Given the description of an element on the screen output the (x, y) to click on. 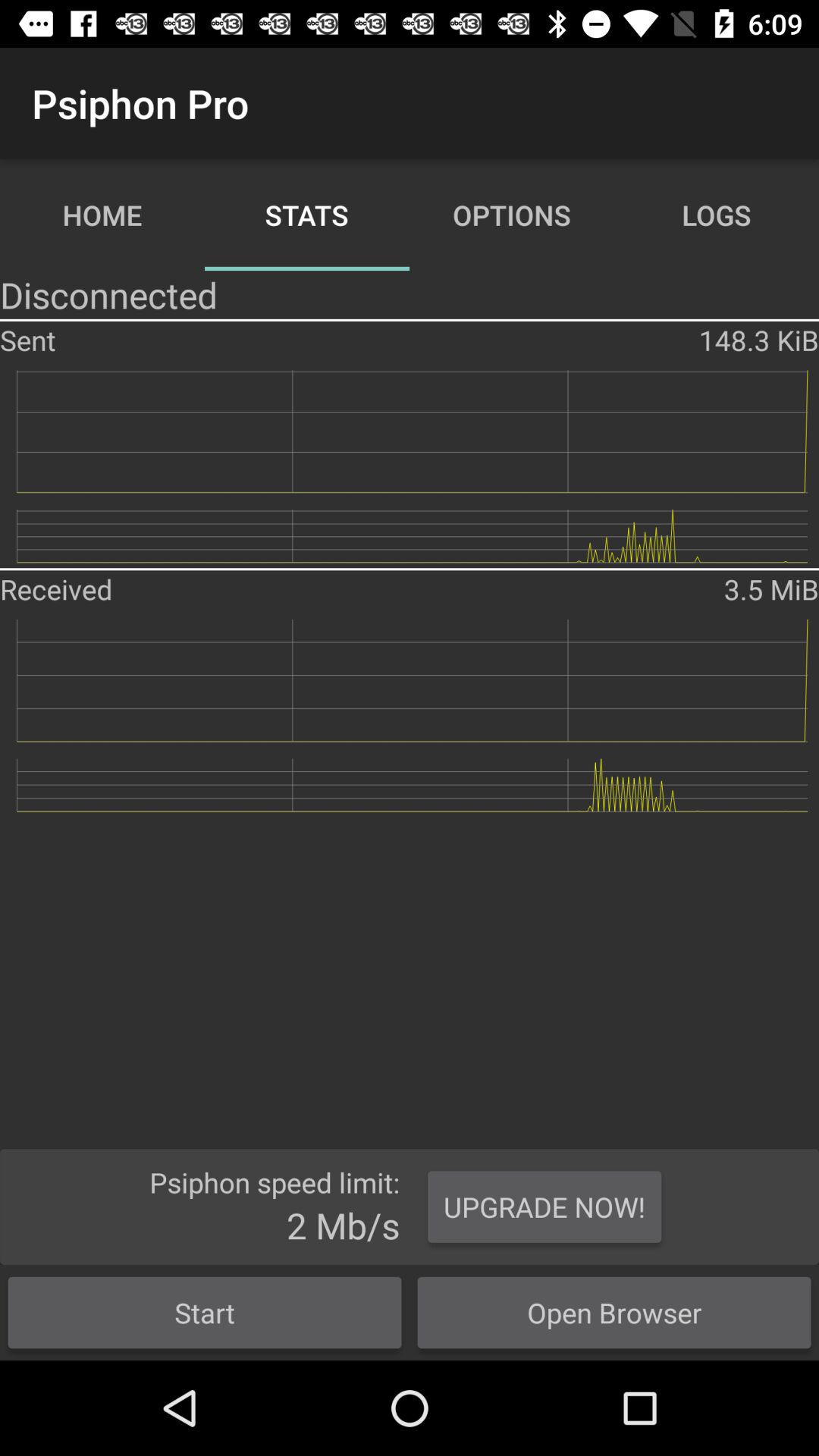
open start at the bottom left corner (204, 1312)
